Given the description of an element on the screen output the (x, y) to click on. 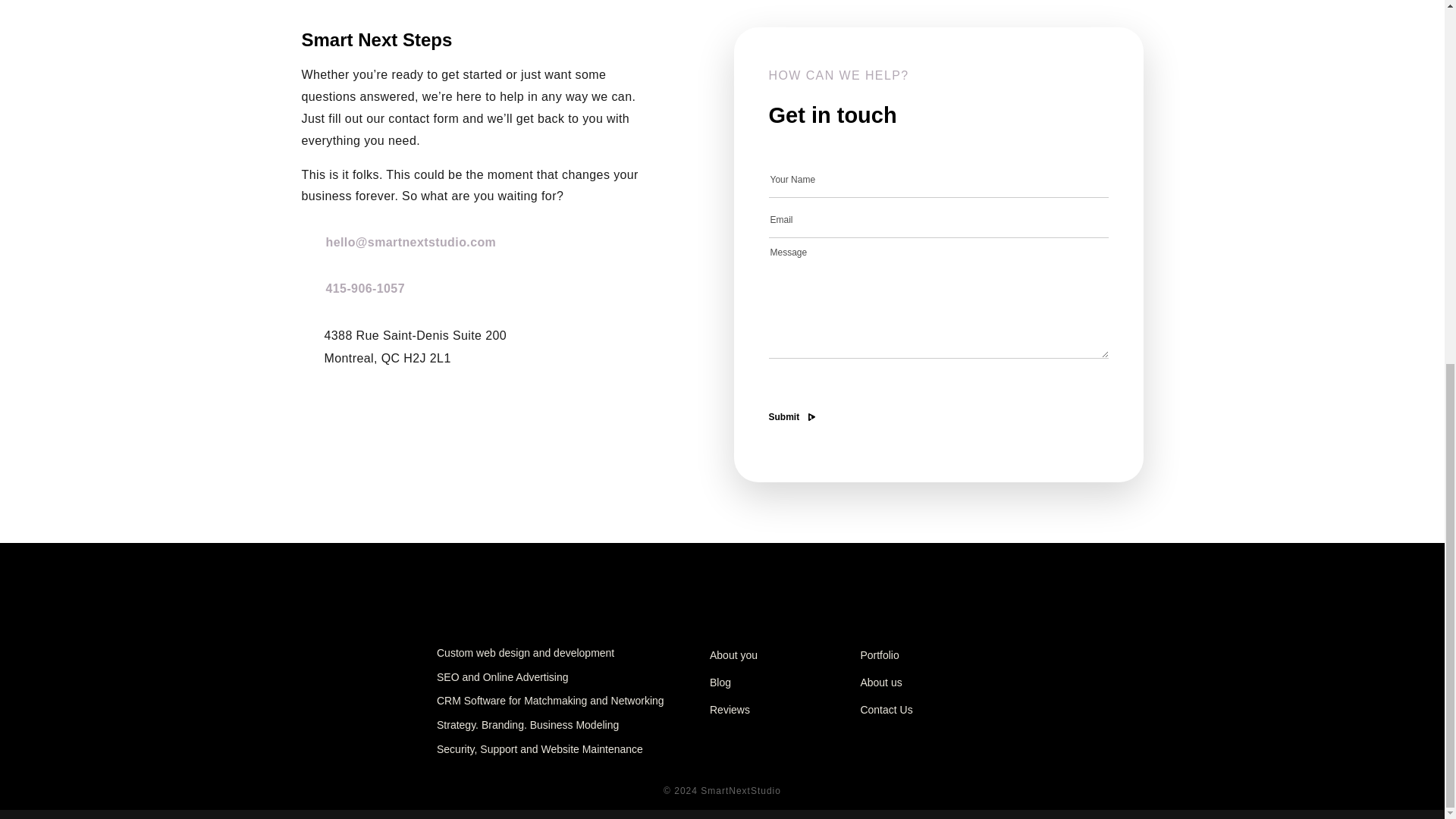
About us (880, 682)
Blog (720, 682)
Security, Support and Website Maintenance (539, 749)
Custom web design and development (525, 653)
Strategy. Branding. Business Modeling (527, 725)
SEO and Online Advertising (502, 677)
Submit (783, 417)
About you (733, 654)
Reviews (729, 709)
Submit (783, 417)
